Given the description of an element on the screen output the (x, y) to click on. 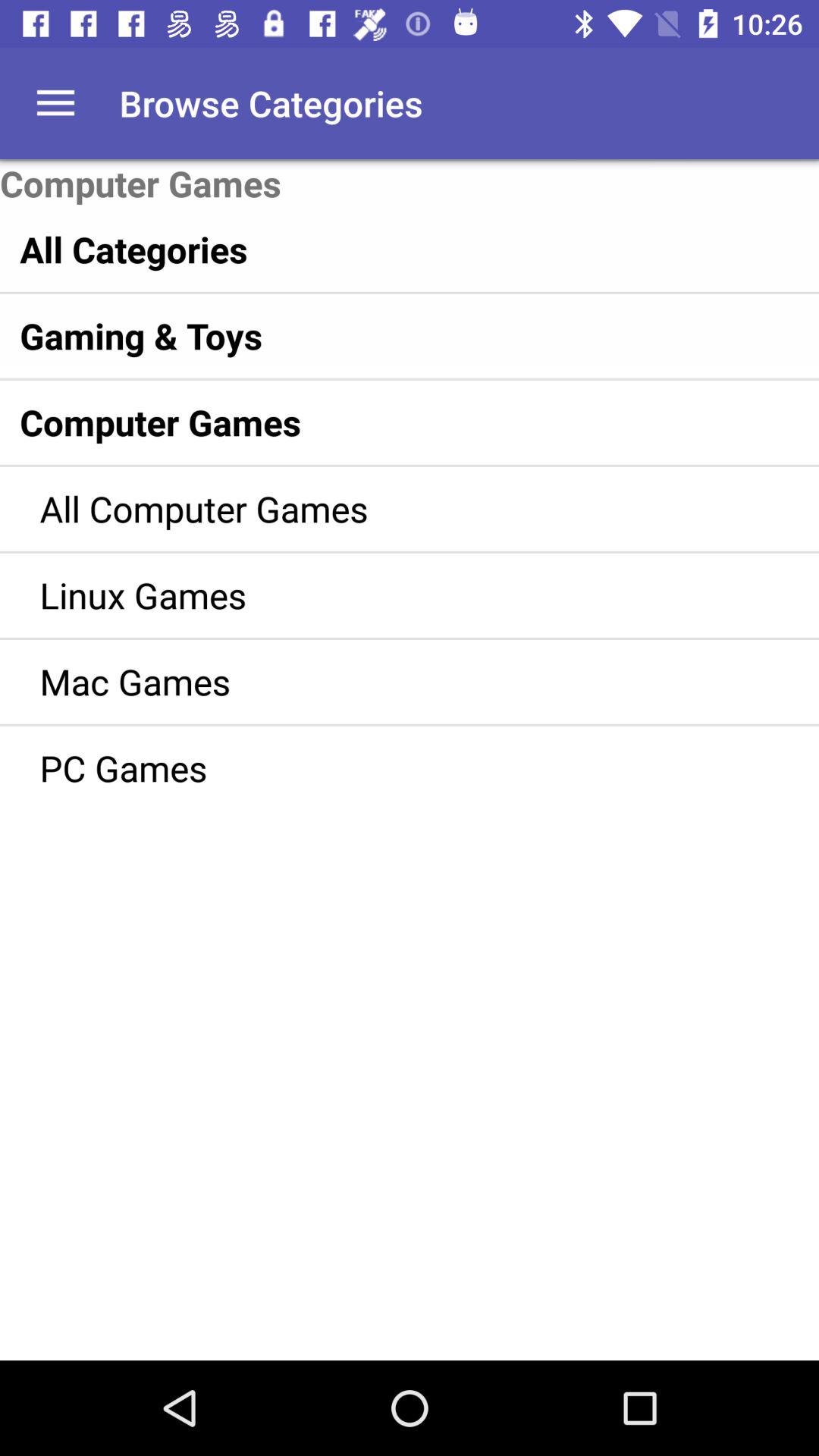
turn on item above the mac games icon (387, 595)
